Given the description of an element on the screen output the (x, y) to click on. 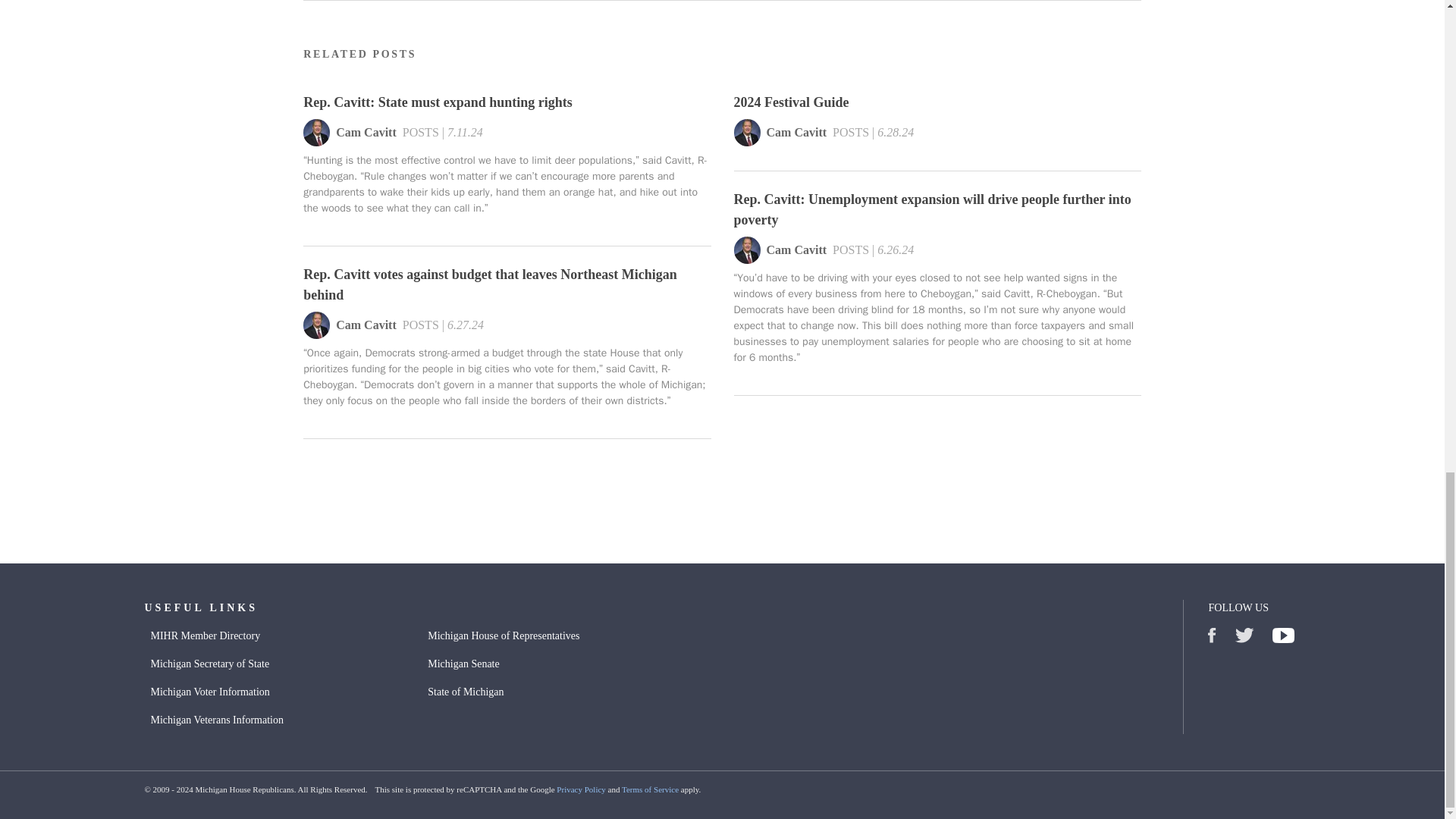
Cam Cavitt (366, 328)
Cam Cavitt (366, 135)
MIHR Member Directory (204, 635)
Privacy Policy (580, 788)
Michigan Veterans Information (215, 718)
Rep. Cavitt: State must expand hunting rights (506, 101)
State of Michigan (465, 691)
Michigan Voter Information (209, 691)
Michigan Secretary of State (209, 663)
Michigan Senate (463, 663)
Terms of Service (649, 788)
Michigan House of Representatives (503, 635)
Cam Cavitt (796, 135)
